Given the description of an element on the screen output the (x, y) to click on. 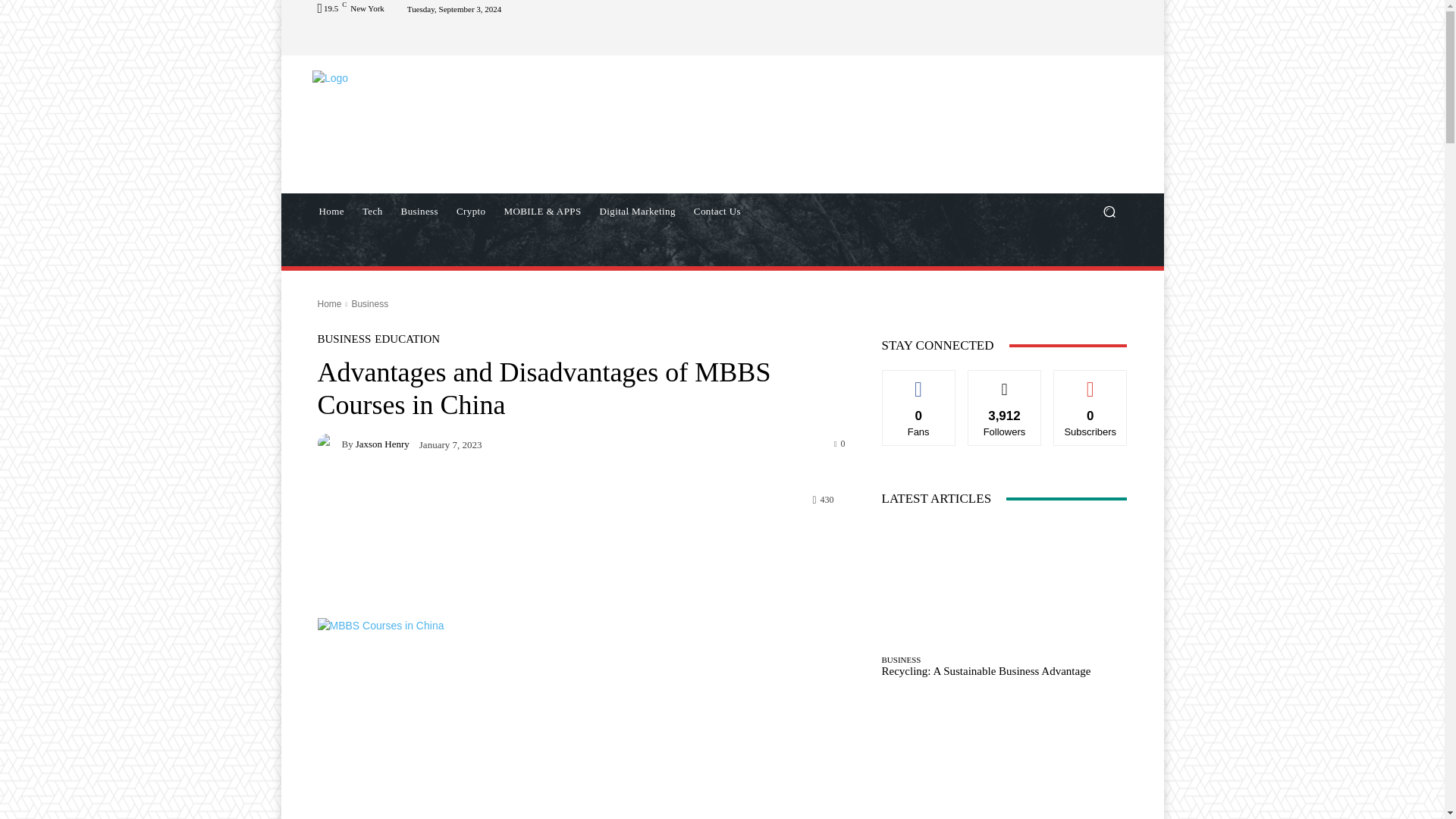
Jaxson henry (328, 443)
Home (330, 211)
Jaxson Henry (382, 443)
Digital Marketing (637, 211)
Business (369, 303)
Tech (372, 211)
0 (839, 442)
Crypto (470, 211)
EDUCATION (406, 338)
BUSINESS (344, 338)
